Given the description of an element on the screen output the (x, y) to click on. 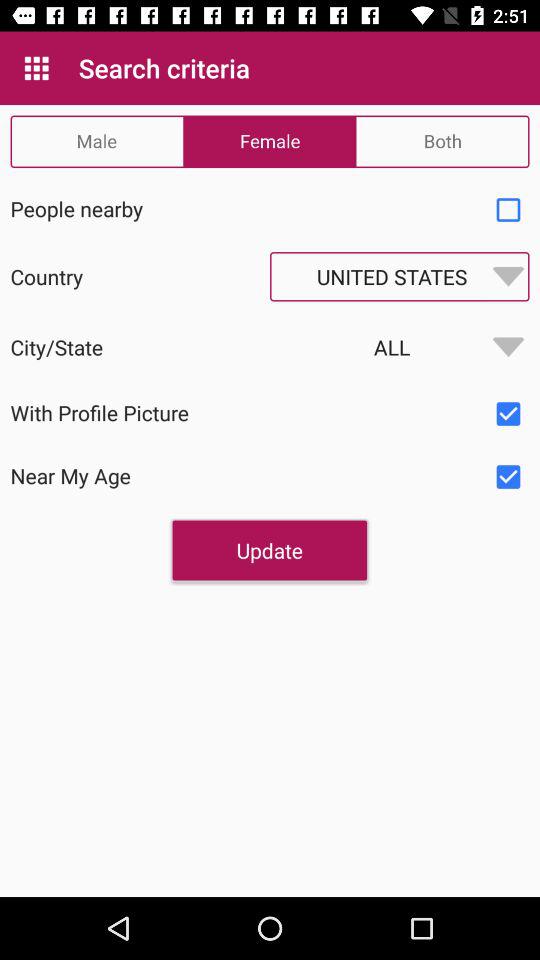
choose the item next to the people nearby icon (508, 209)
